Given the description of an element on the screen output the (x, y) to click on. 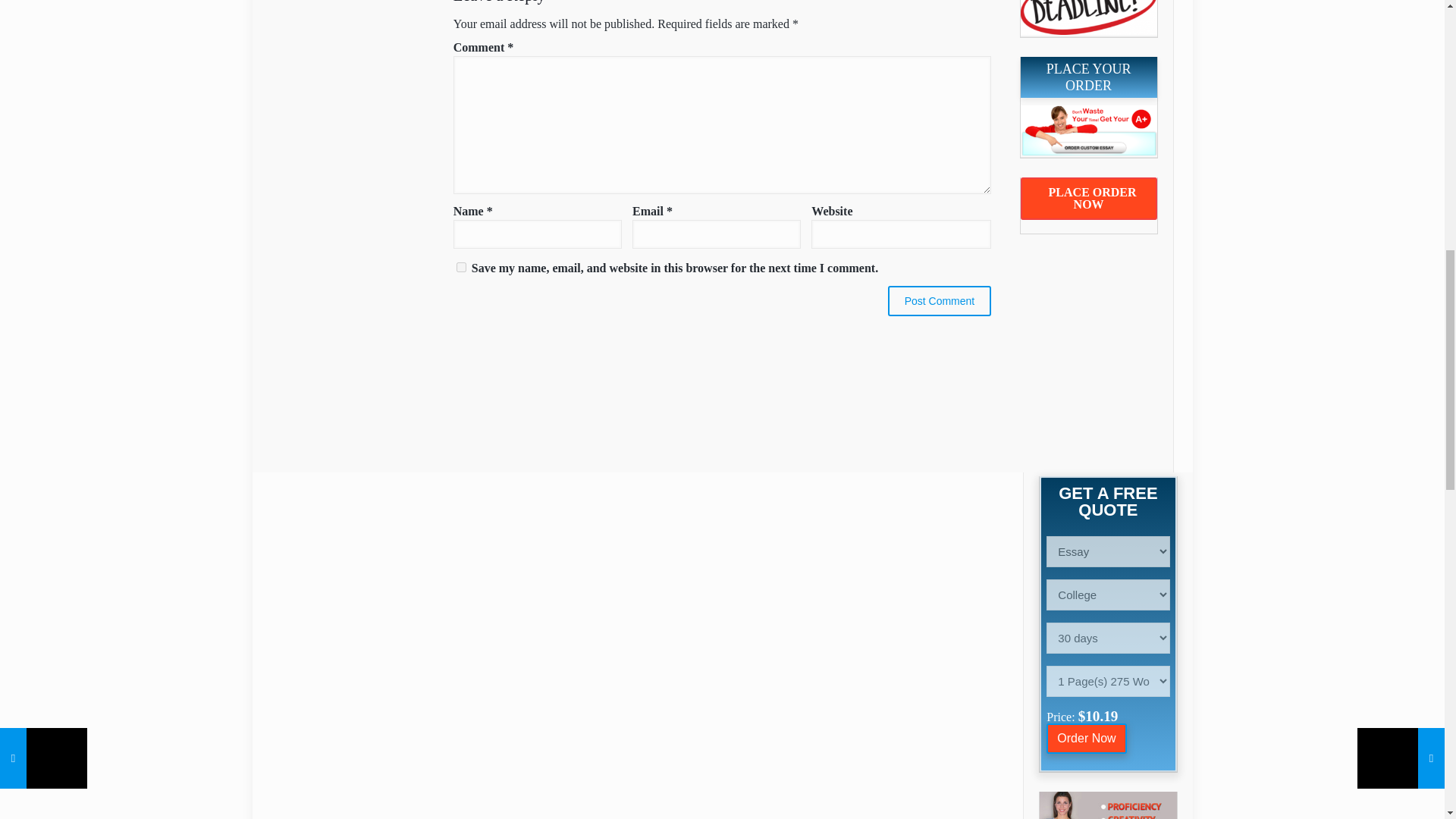
yes (461, 266)
Post Comment (939, 300)
